Given the description of an element on the screen output the (x, y) to click on. 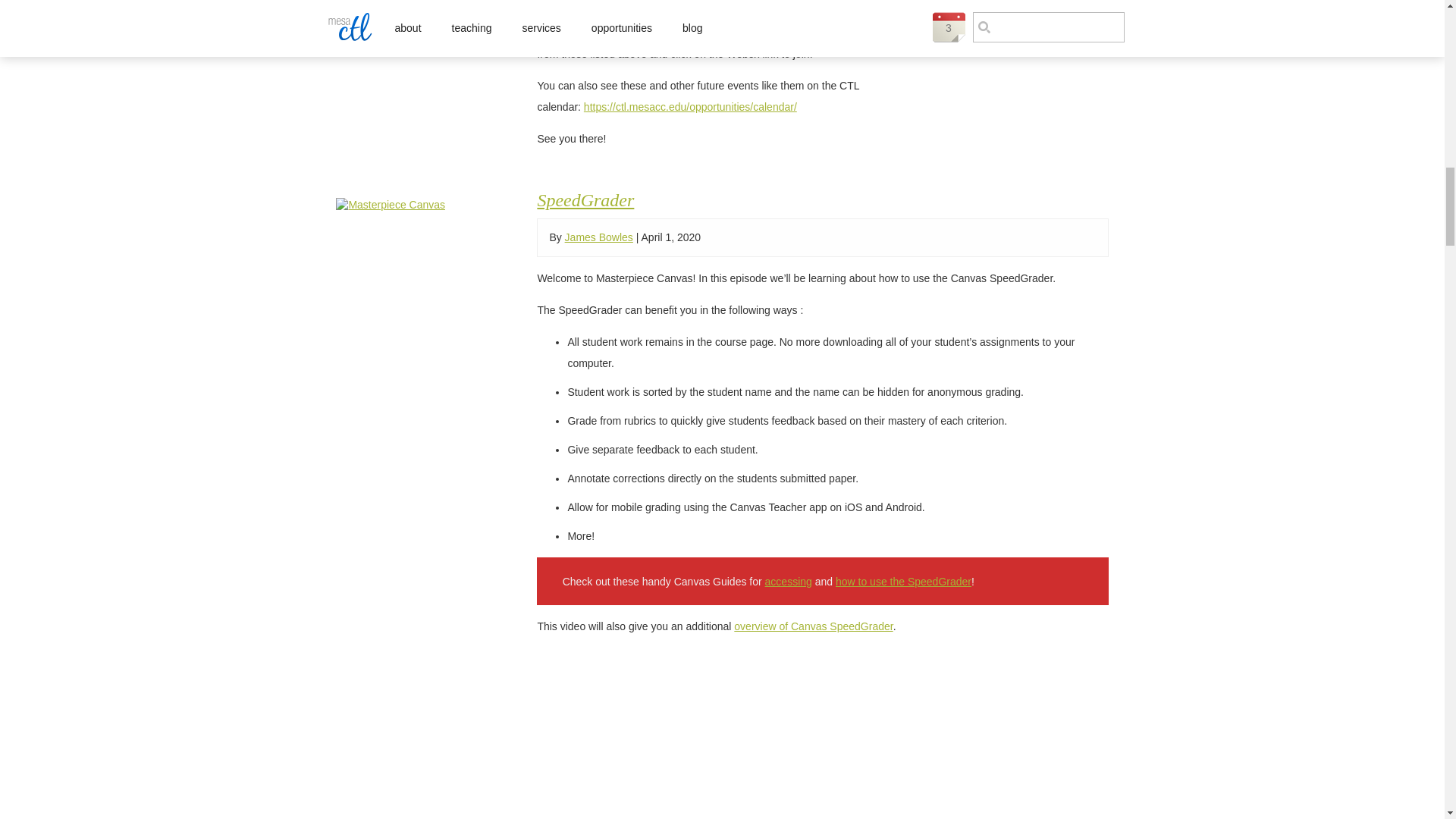
View all posts by James Bowles (598, 236)
SpeedGrader (420, 205)
SpeedGrader (585, 199)
